Given the description of an element on the screen output the (x, y) to click on. 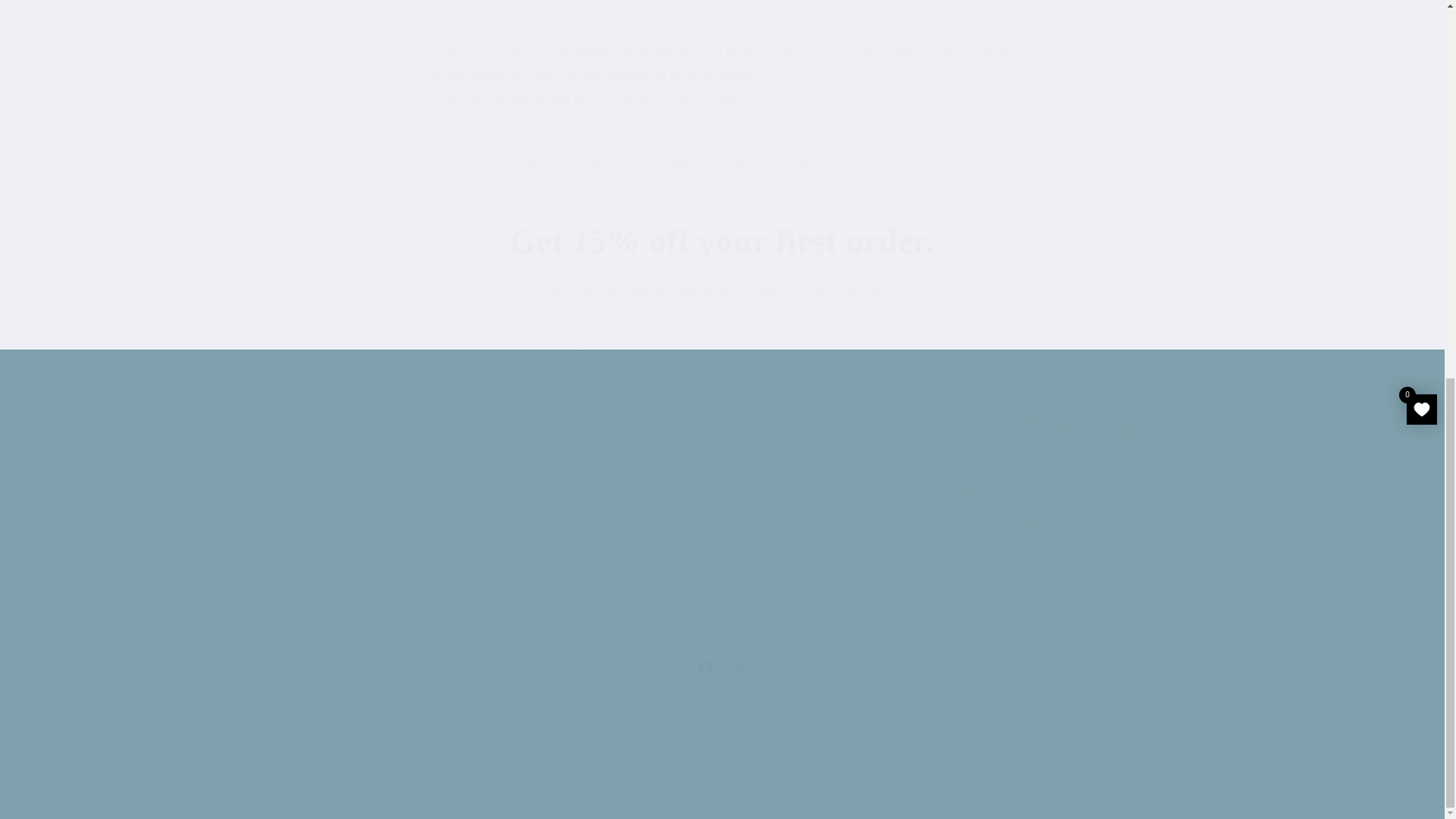
Email (721, 667)
